Given the description of an element on the screen output the (x, y) to click on. 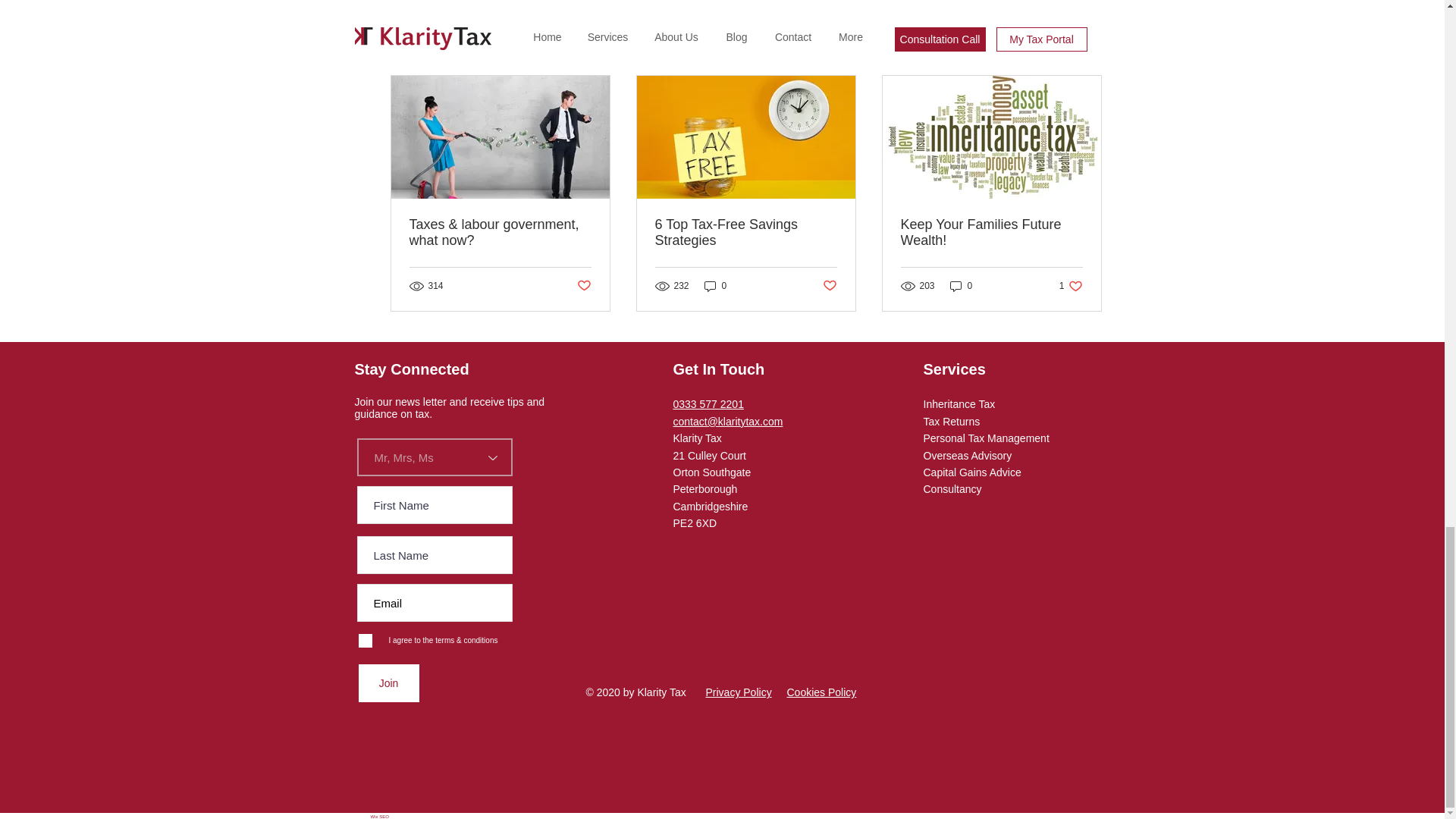
0 (961, 286)
Post not marked as liked (828, 286)
6 Top Tax-Free Savings Strategies (746, 232)
See All (1086, 48)
Post not marked as liked (1071, 286)
Join (583, 286)
0 (388, 682)
Keep Your Families Future Wealth! (716, 286)
